Given the description of an element on the screen output the (x, y) to click on. 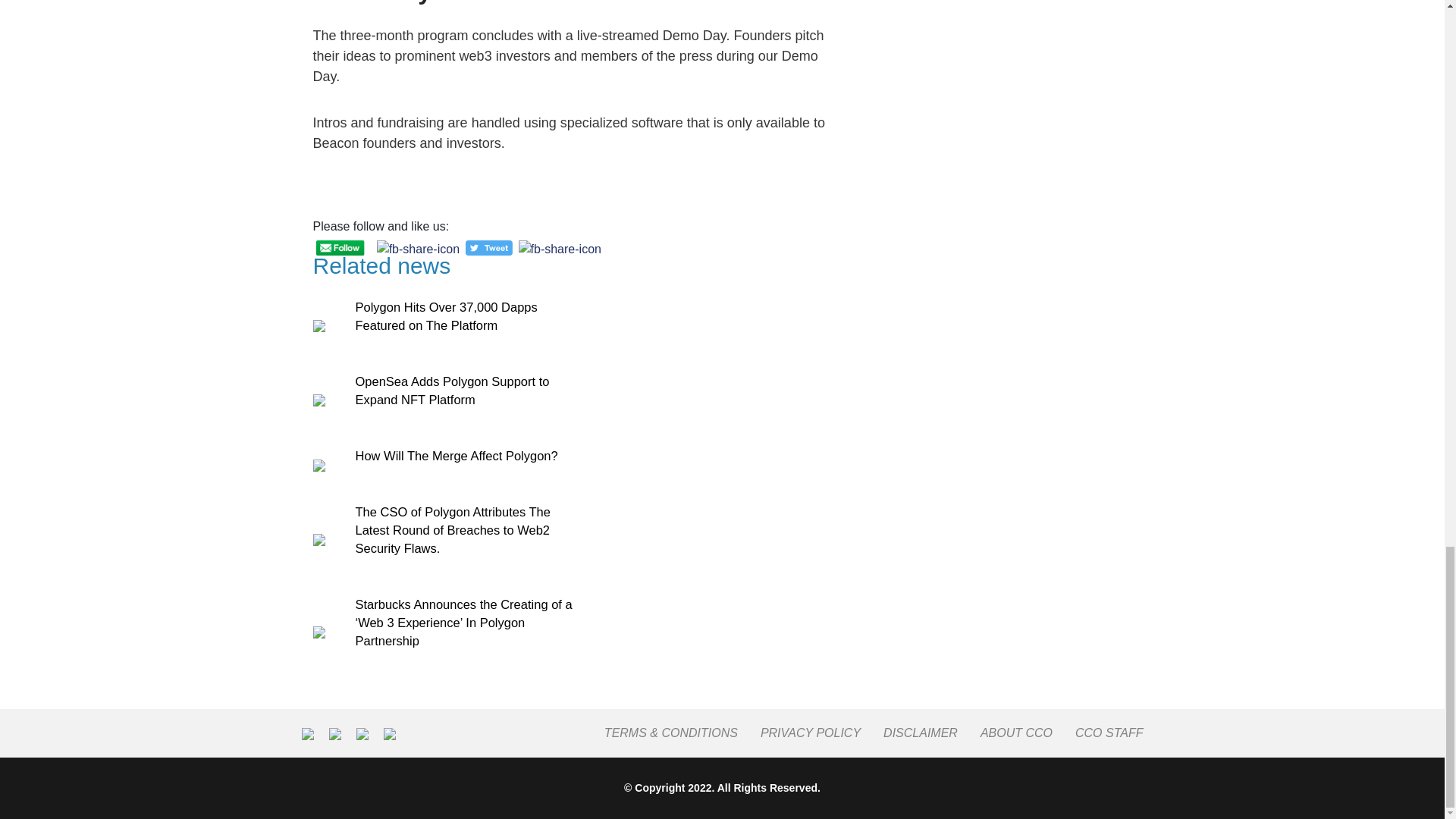
How Will The Merge Affect Polygon? (456, 455)
Polygon Hits Over 37,000 Dapps Featured on The Platform (446, 316)
OpenSea Adds Polygon Support to Expand NFT Platform (451, 390)
